Given the description of an element on the screen output the (x, y) to click on. 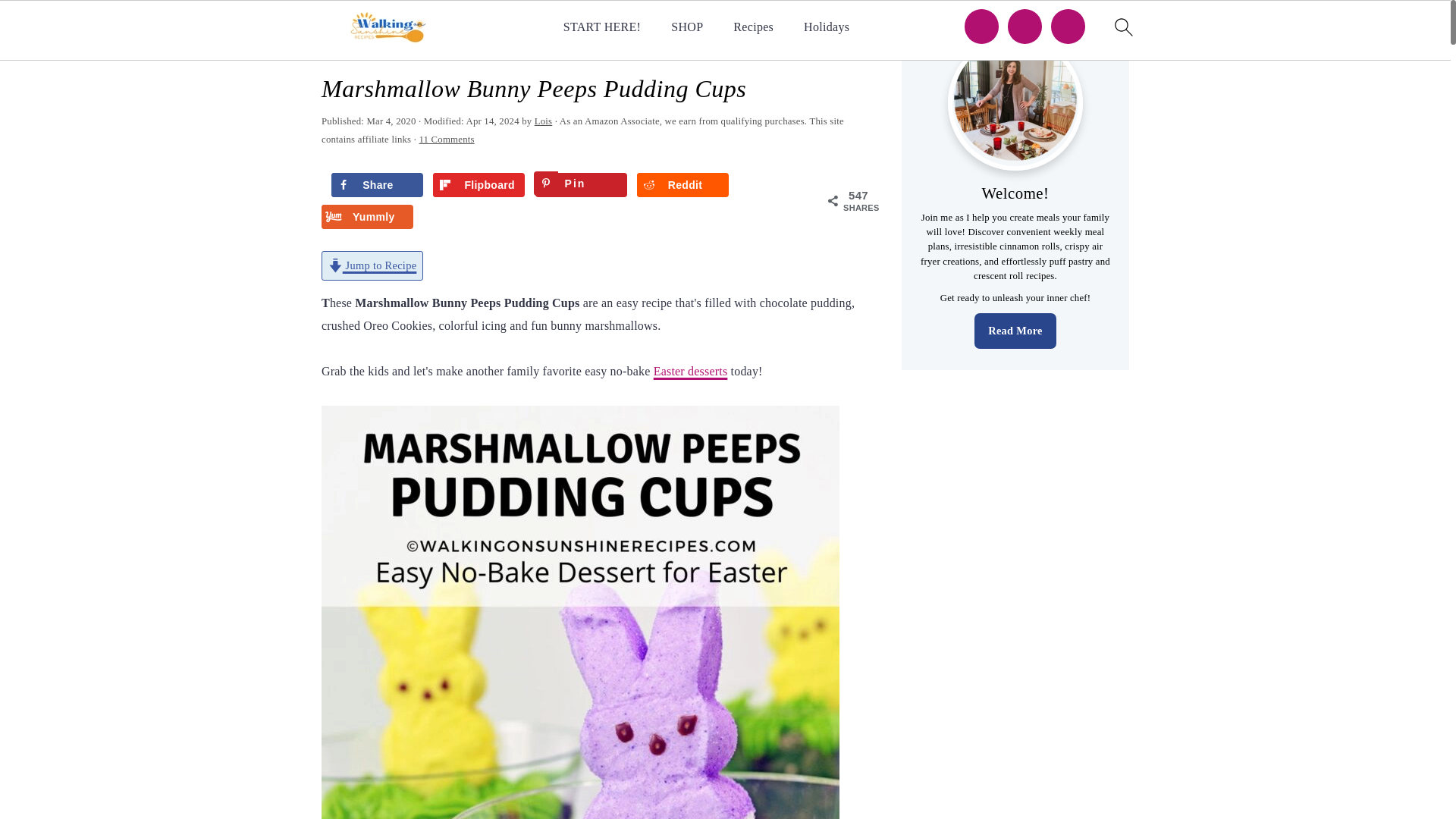
Save to Pinterest (581, 184)
Recipes (384, 50)
Home (336, 50)
search icon (1122, 26)
SHOP (687, 26)
Holidays (825, 26)
Share (377, 184)
Flipboard (478, 184)
Recipes (753, 26)
START HERE! (602, 26)
11 Comments (446, 139)
Share on Yummly (367, 216)
Desserts (439, 50)
Share on Flipboard (478, 184)
